Given the description of an element on the screen output the (x, y) to click on. 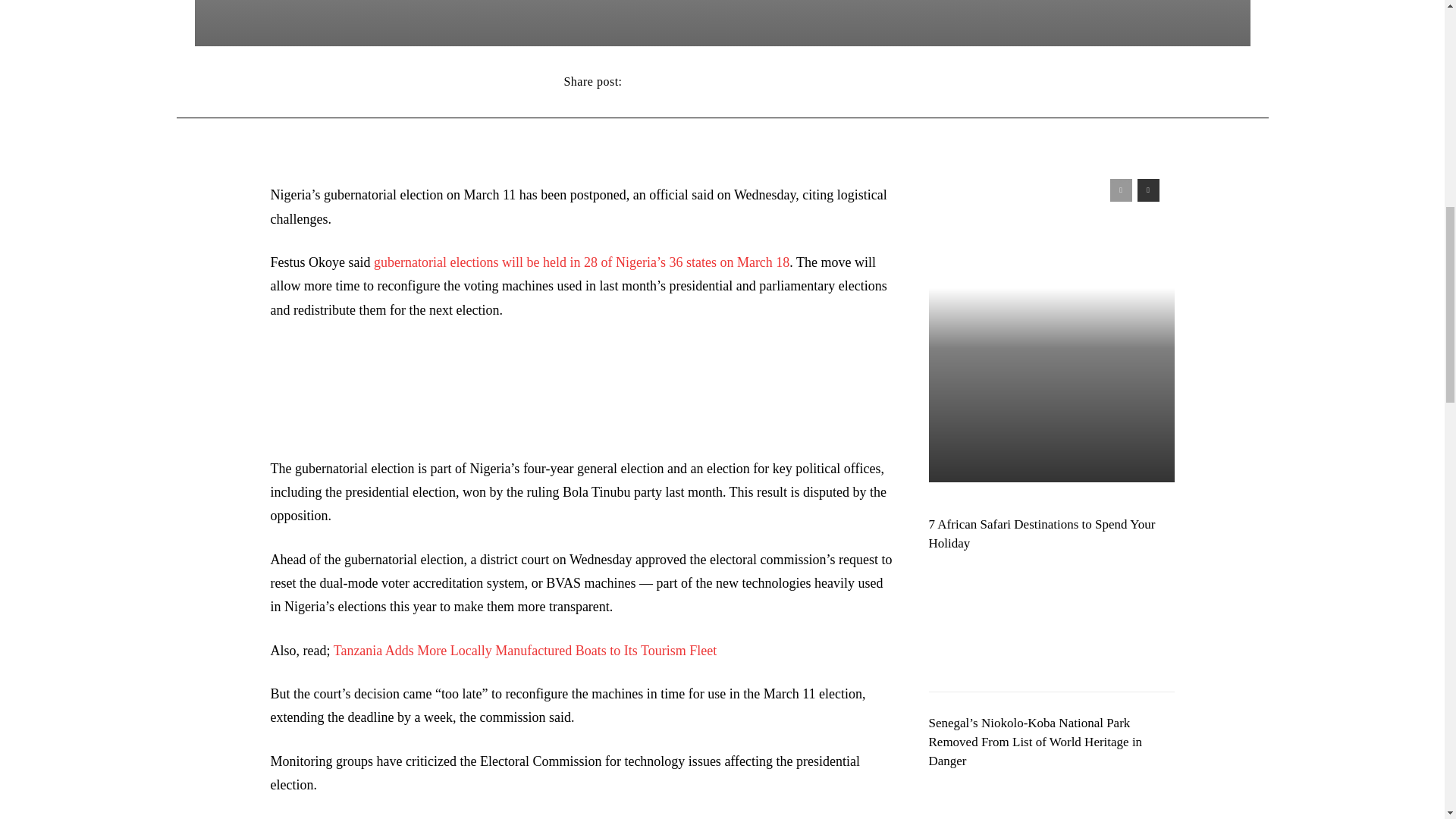
Top African Islands For Lifetime Enjoyment (1050, 322)
7 African Safari Destinations to Spend Your Holiday (1050, 618)
Top African Islands For Lifetime Enjoyment (1038, 189)
